Given the description of an element on the screen output the (x, y) to click on. 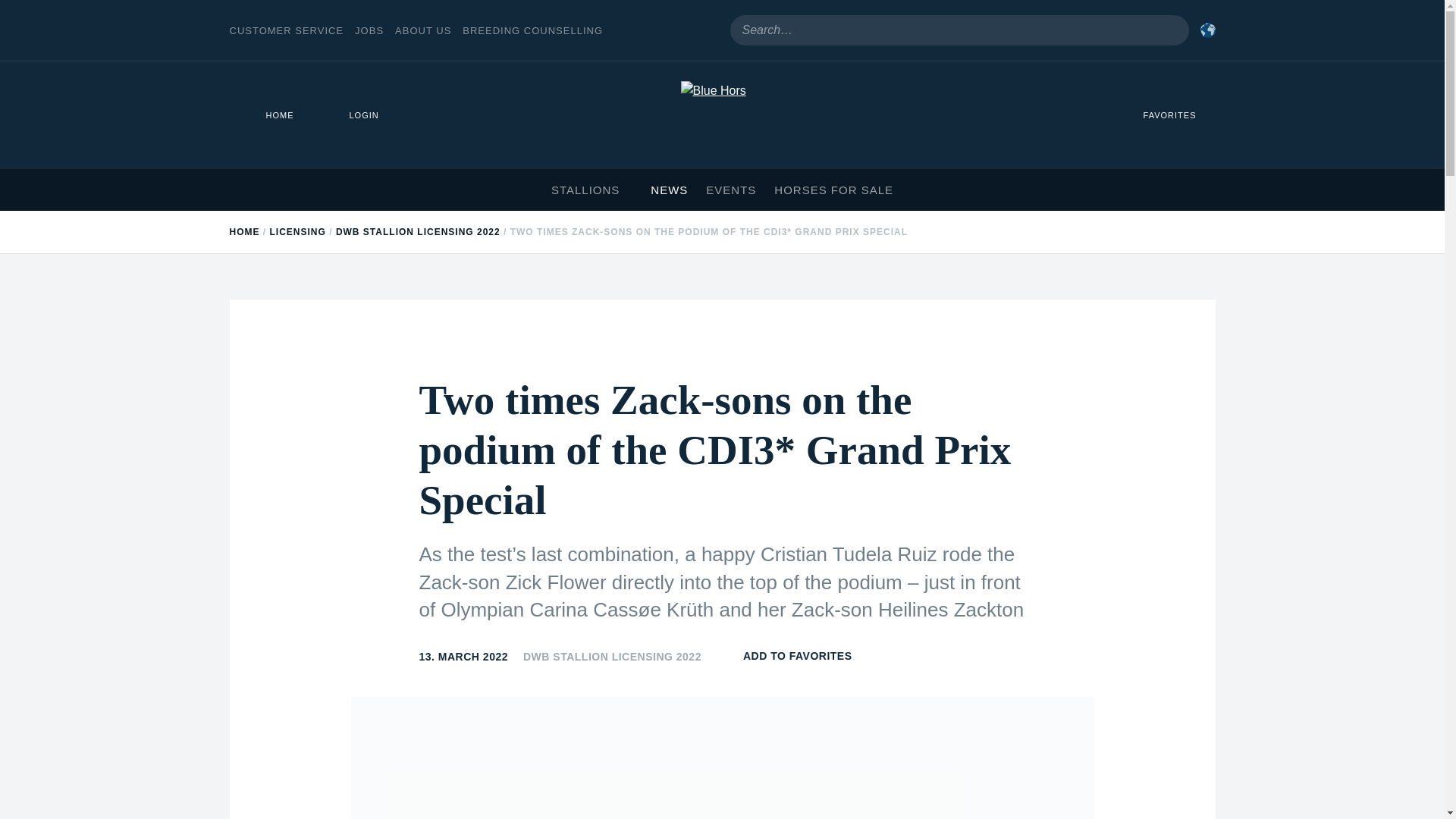
FAVORITES (1160, 115)
JOBS (369, 30)
ABOUT US (422, 30)
LOGIN (355, 115)
NEWS (669, 189)
BREEDING COUNSELLING (532, 30)
HOME (270, 115)
EVENTS (731, 189)
STALLIONS (591, 189)
CUSTOMER SERVICE (285, 30)
